Given the description of an element on the screen output the (x, y) to click on. 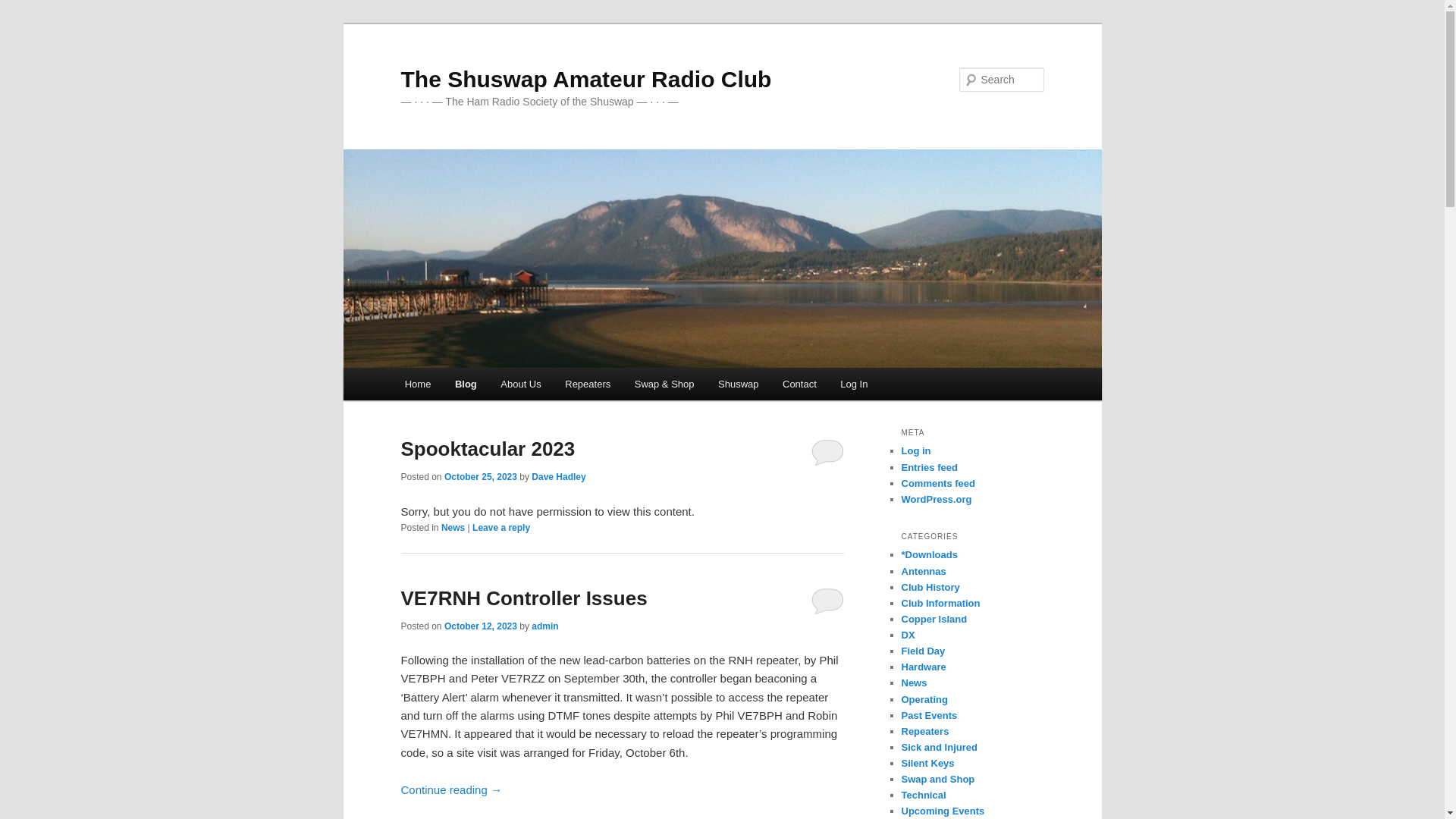
Log in Element type: text (915, 450)
Spooktacular 2023 Element type: text (487, 448)
Home Element type: text (417, 383)
Past Events Element type: text (928, 715)
Hardware Element type: text (922, 666)
DX Element type: text (907, 634)
Swap & Shop Element type: text (664, 383)
Operating Element type: text (923, 698)
Upcoming Events Element type: text (942, 810)
Dave Hadley Element type: text (558, 476)
Silent Keys Element type: text (926, 762)
*Downloads Element type: text (928, 554)
The Shuswap Amateur Radio Club Element type: text (585, 78)
Club History Element type: text (929, 587)
Search Element type: text (24, 8)
Blog Element type: text (465, 383)
Antennas Element type: text (922, 571)
Leave a reply Element type: text (501, 527)
admin Element type: text (544, 626)
October 25, 2023 Element type: text (480, 476)
Copper Island Element type: text (933, 618)
WordPress.org Element type: text (935, 499)
Entries feed Element type: text (928, 467)
October 12, 2023 Element type: text (480, 626)
News Element type: text (452, 527)
Skip to primary content Element type: text (414, 367)
About Us Element type: text (521, 383)
Field Day Element type: text (922, 650)
Sick and Injured Element type: text (938, 747)
Comments feed Element type: text (937, 483)
VE7RNH Controller Issues Element type: text (523, 597)
Repeaters Element type: text (924, 731)
News Element type: text (913, 682)
Club Information Element type: text (939, 602)
Log In Element type: text (854, 383)
Swap and Shop Element type: text (937, 778)
Contact Element type: text (799, 383)
Shuswap Element type: text (738, 383)
Technical Element type: text (922, 794)
Repeaters Element type: text (587, 383)
